Given the description of an element on the screen output the (x, y) to click on. 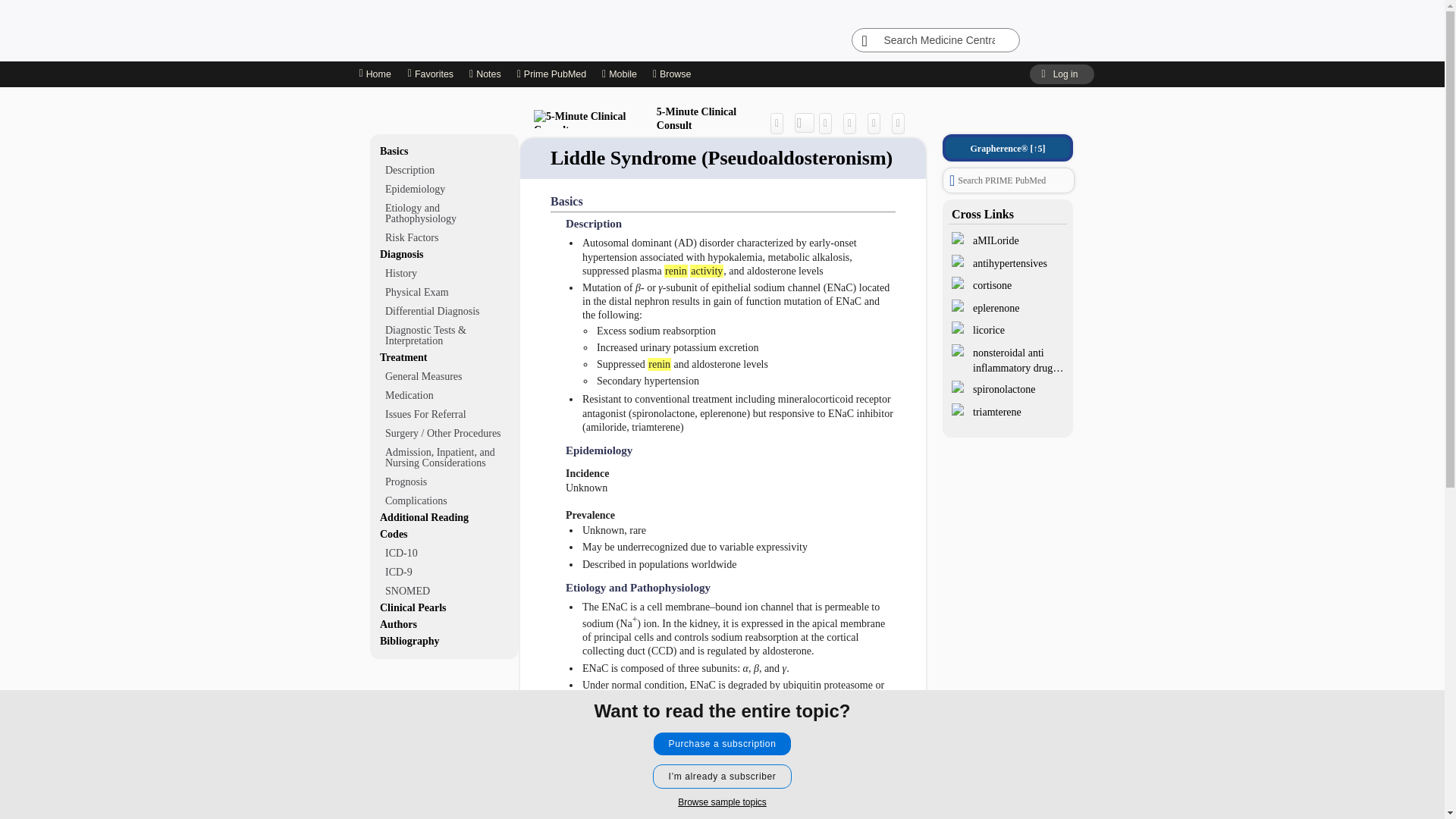
Browse (673, 73)
Log in (1061, 74)
Share (780, 122)
Print PDF (853, 122)
Mobile (619, 73)
Favorite (877, 122)
Search 5-Minute Clinical Consult (804, 122)
Log In (1061, 74)
Search PRIME PubMed (1008, 180)
Favorites (429, 73)
